Given the description of an element on the screen output the (x, y) to click on. 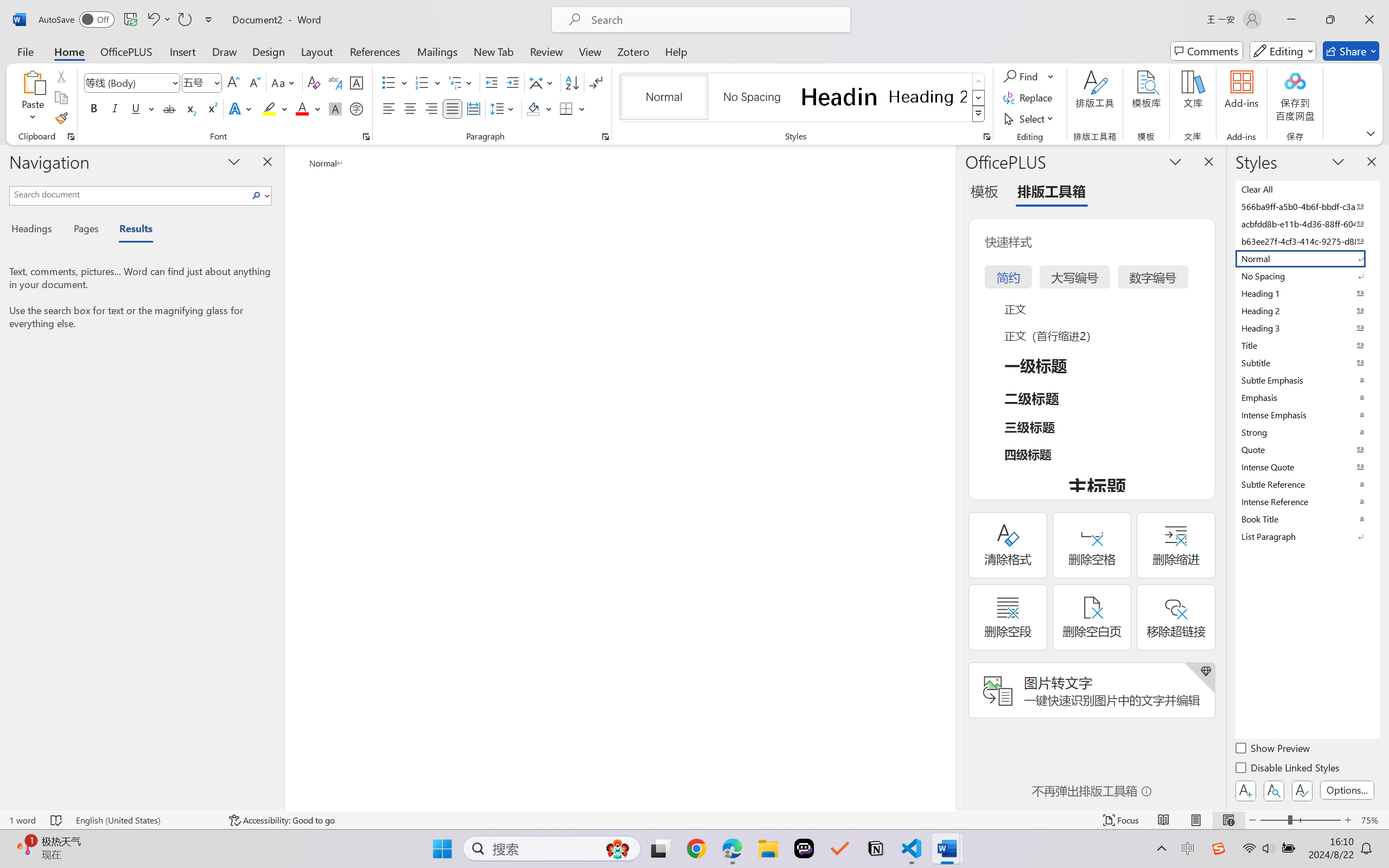
566ba9ff-a5b0-4b6f-bbdf-c3ab41993fc2 (1306, 206)
Class: NetUIButton (1301, 790)
Comments (1206, 50)
Layout (316, 51)
Asian Layout (542, 82)
Web Layout (1228, 819)
Row Down (978, 97)
Open (215, 82)
Class: NetUIScrollBar (948, 477)
Intense Quote (1306, 466)
